Given the description of an element on the screen output the (x, y) to click on. 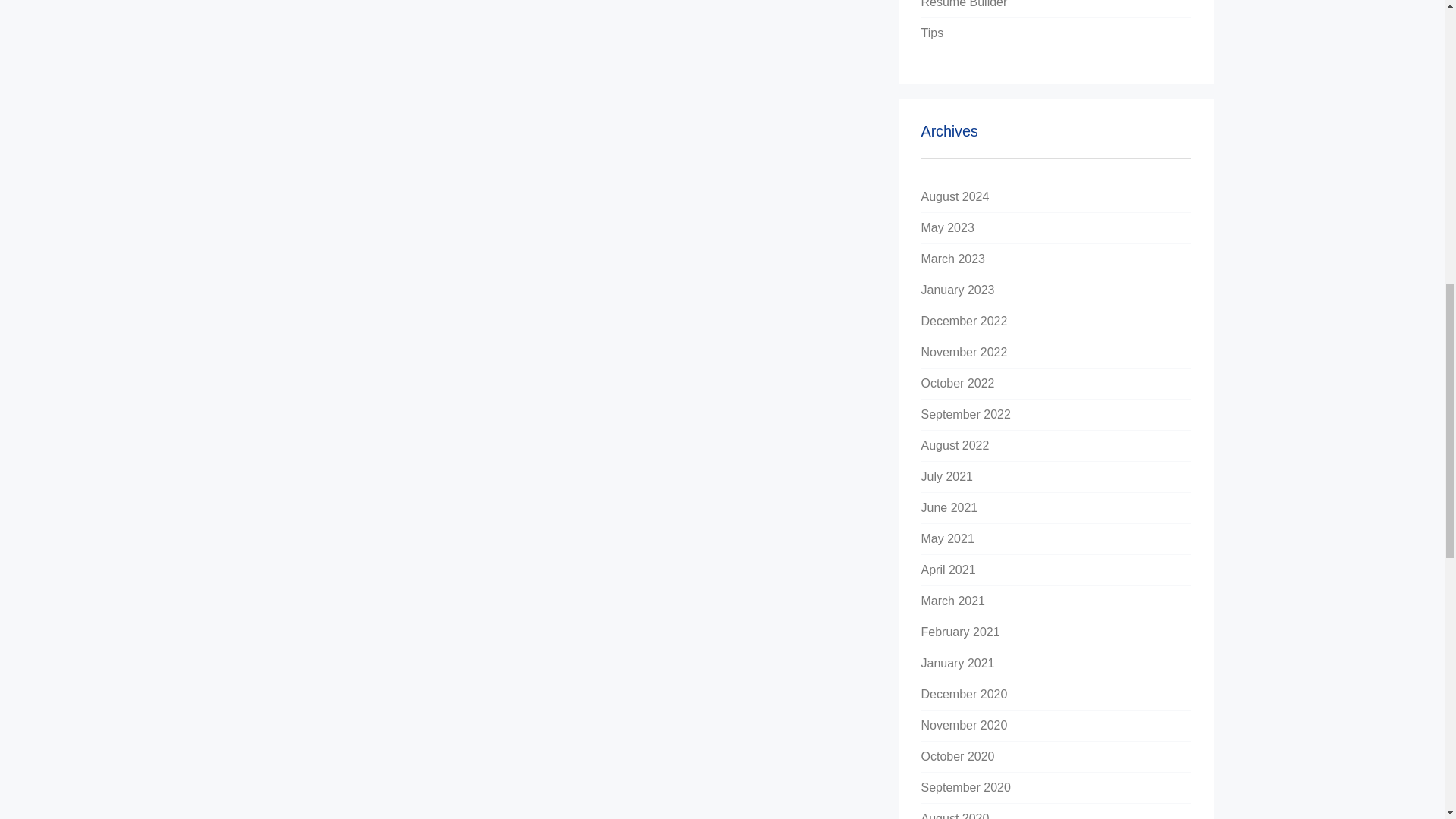
January 2021 (957, 662)
March 2021 (953, 600)
May 2023 (947, 227)
August 2024 (955, 196)
April 2021 (948, 569)
Resume Builder (964, 4)
November 2022 (964, 351)
June 2021 (949, 507)
February 2021 (960, 631)
March 2023 (953, 258)
